Given the description of an element on the screen output the (x, y) to click on. 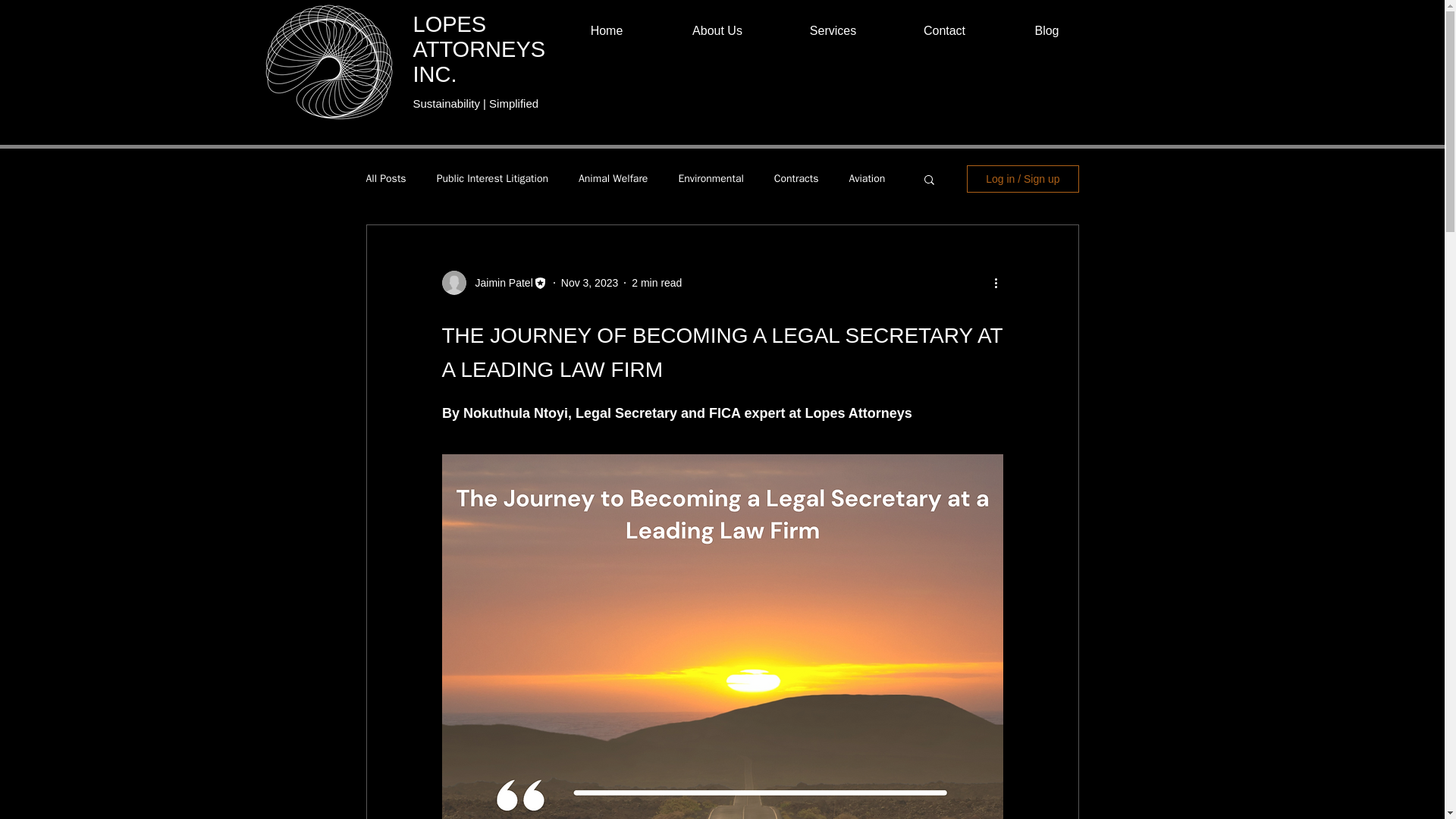
Nov 3, 2023 (589, 282)
All Posts (385, 178)
About Us (717, 30)
2 min read (656, 282)
LOPES ATTORNEYS INC. (478, 49)
Blog (1045, 30)
Contracts (796, 178)
Services (832, 30)
Public Interest Litigation (492, 178)
Environmental (710, 178)
